Given the description of an element on the screen output the (x, y) to click on. 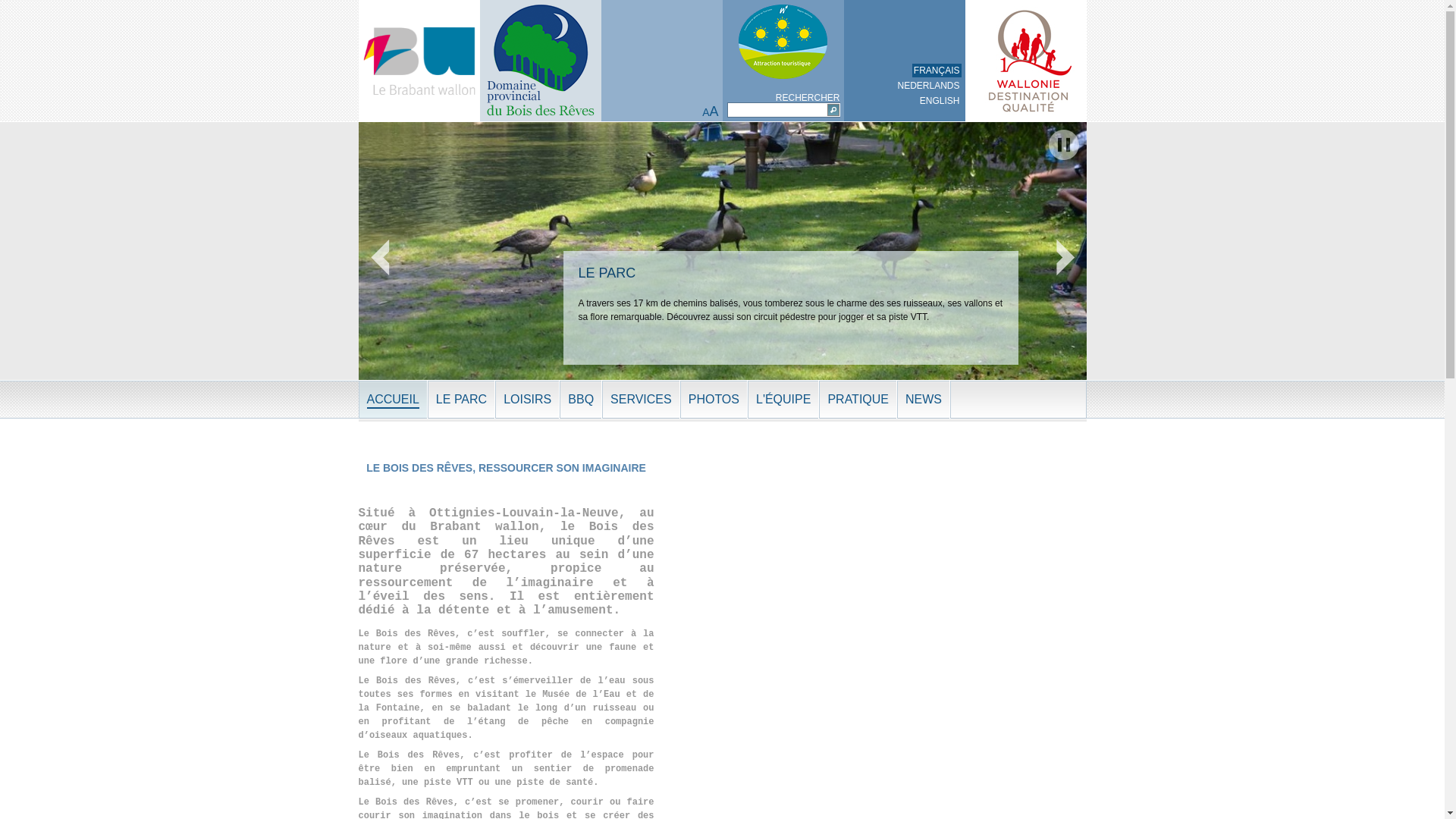
PHOTOS Element type: text (713, 399)
next Element type: text (1066, 258)
AA Element type: text (710, 111)
NEDERLANDS Element type: text (927, 85)
LOISIRS Element type: text (527, 399)
BBQ Element type: text (580, 399)
pause slider Element type: hover (1063, 144)
prev Element type: text (376, 258)
SERVICES Element type: text (641, 399)
NEWS Element type: text (923, 399)
ENGLISH Element type: text (939, 100)
Accueil Element type: hover (539, 60)
ACCUEIL Element type: text (391, 399)
LE PARC Element type: text (461, 399)
PRATIQUE Element type: text (858, 399)
